Given the description of an element on the screen output the (x, y) to click on. 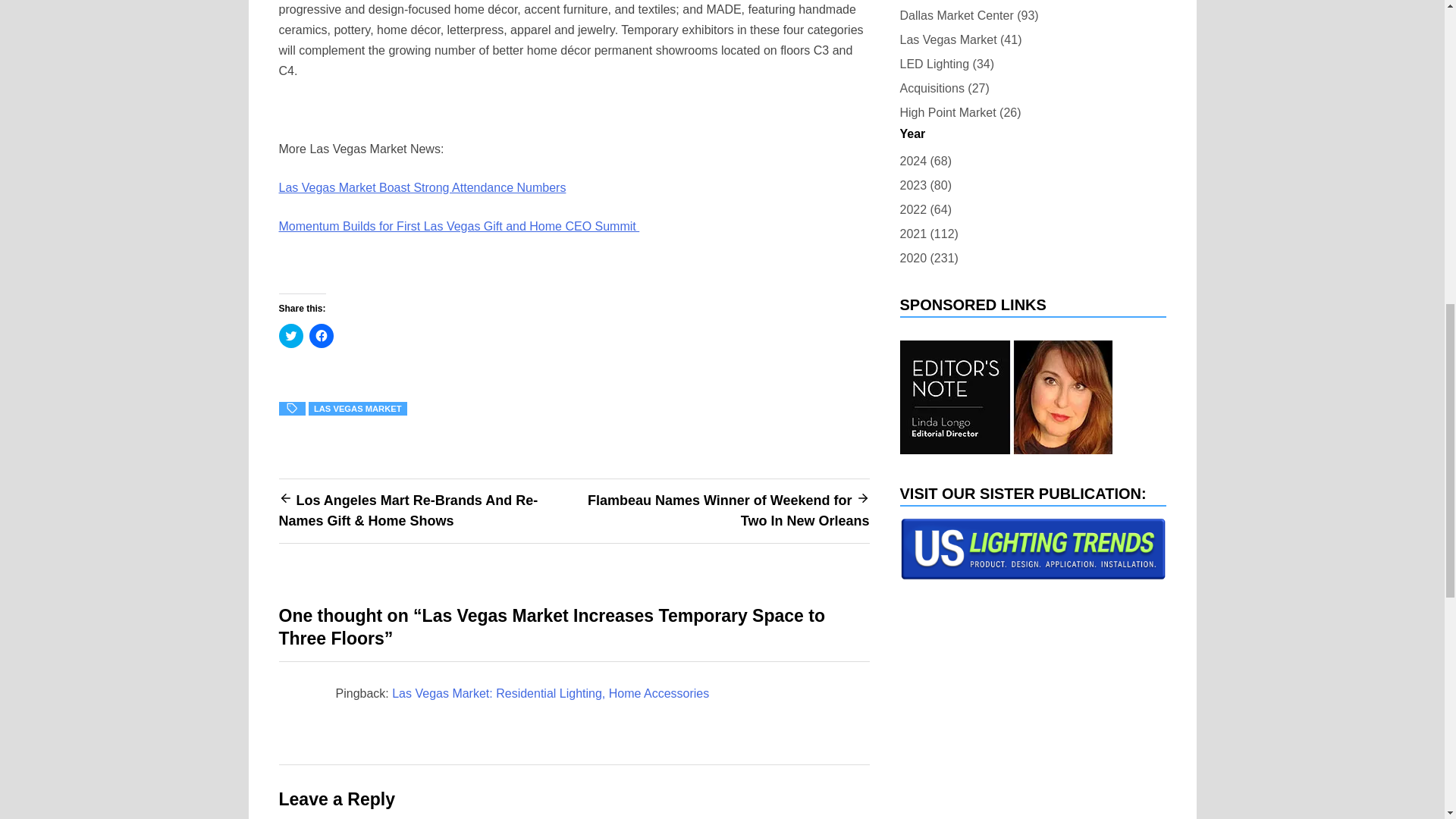
Las Vegas Market: Residential Lighting, Home Accessories (550, 693)
Click to share on Twitter (290, 335)
Las Vegas Attendance Numbers (422, 187)
Las Vegas Market Boast Strong Attendance Numbers (422, 187)
Flambeau Names Winner of Weekend for Two In New Orleans (728, 510)
LAS VEGAS MARKET (357, 408)
Click to share on Facebook (320, 335)
